Given the description of an element on the screen output the (x, y) to click on. 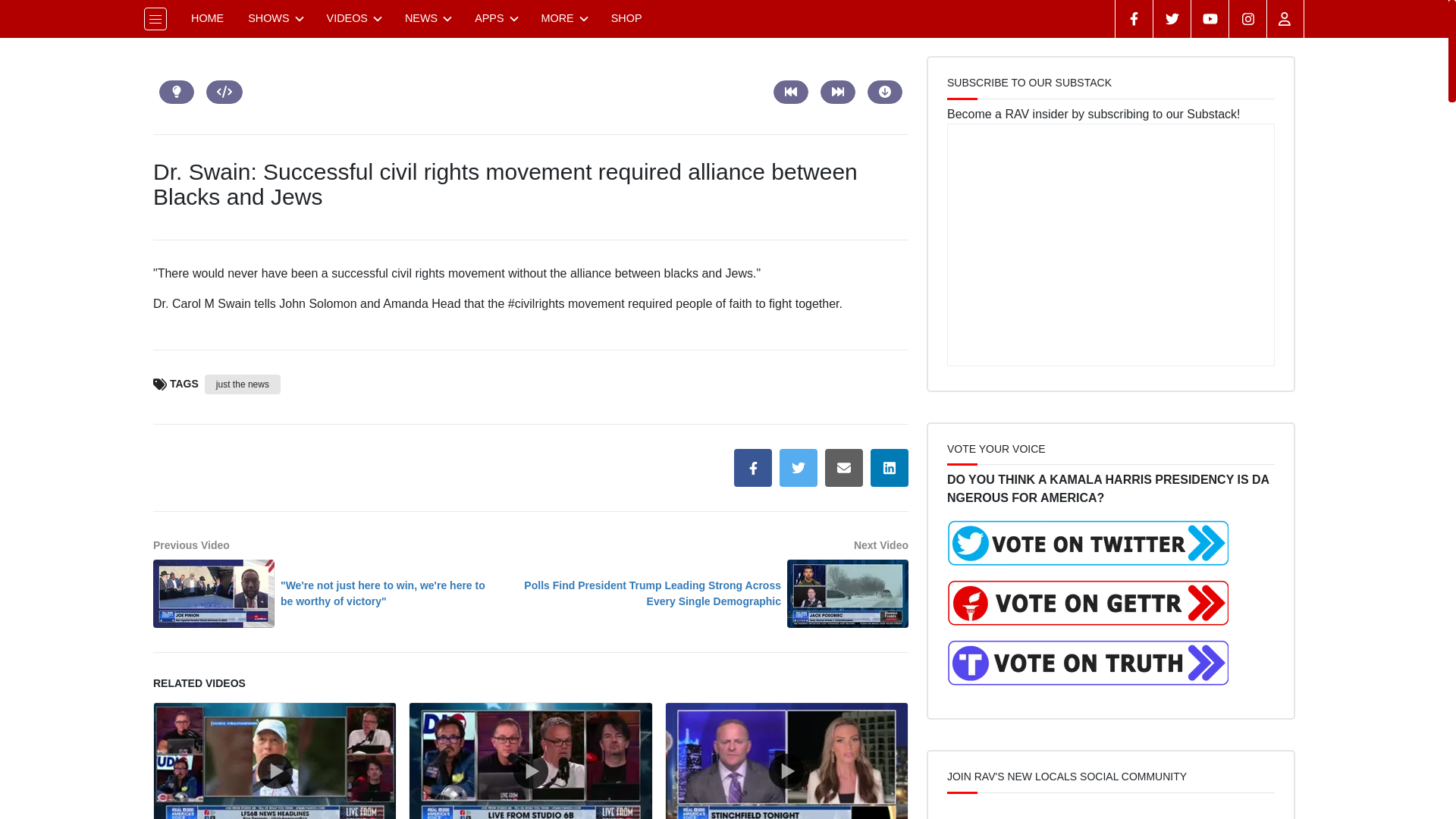
just the news (243, 383)
HOME (207, 18)
Facebook (1134, 18)
Twitter (1172, 18)
Instagram (1247, 18)
APPS (495, 18)
Login (1285, 18)
NEWS (428, 18)
YouTube (1209, 18)
MORE (563, 18)
